Given the description of an element on the screen output the (x, y) to click on. 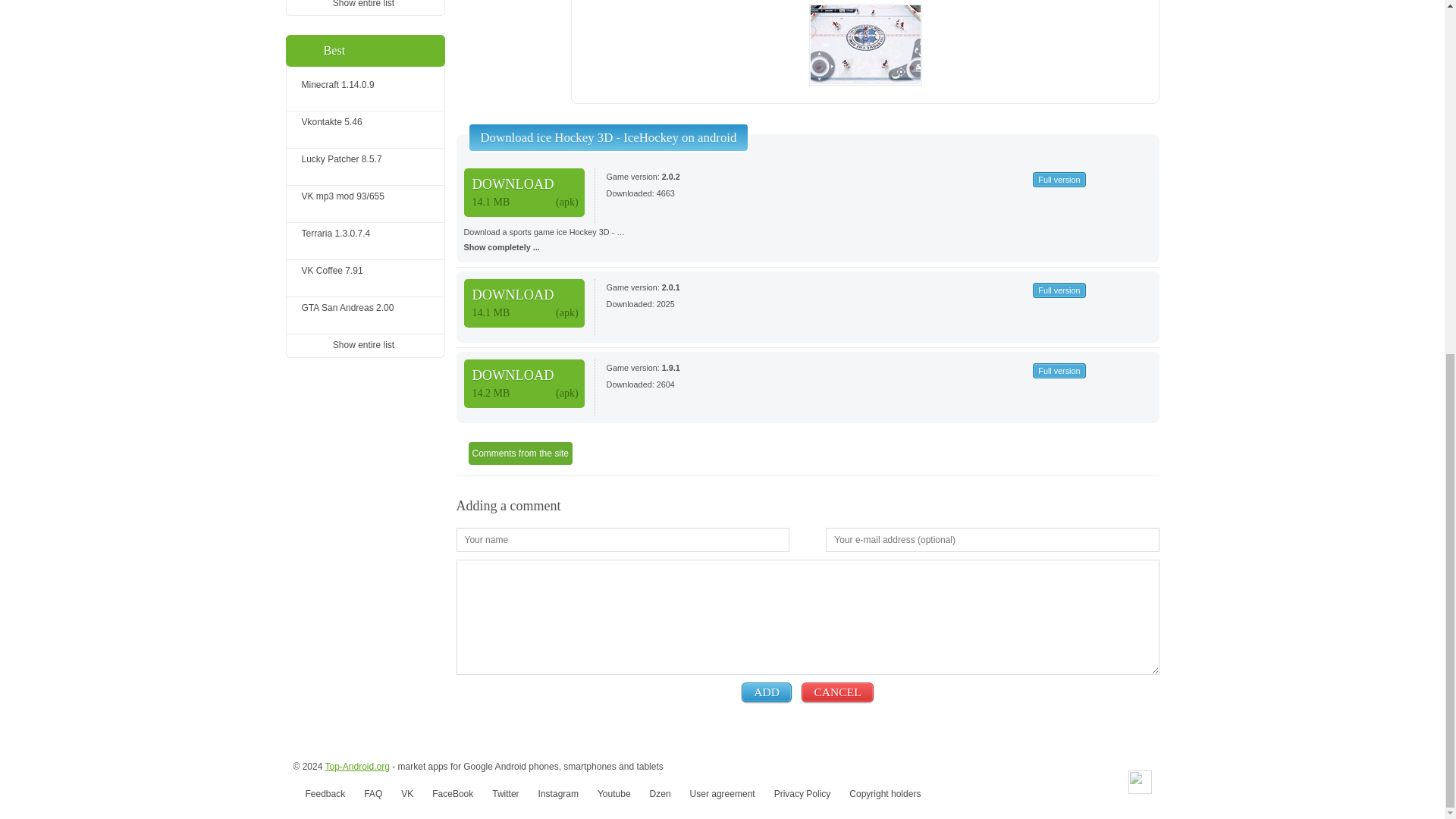
Full version (1058, 179)
Download apk file, size 14.1 MB (524, 303)
Download apk file, size 14.1 MB (524, 192)
LiveInternet (1139, 781)
Download apk file, size 14.2 MB (524, 383)
Full version (356, 766)
Full version (1058, 290)
